Given the description of an element on the screen output the (x, y) to click on. 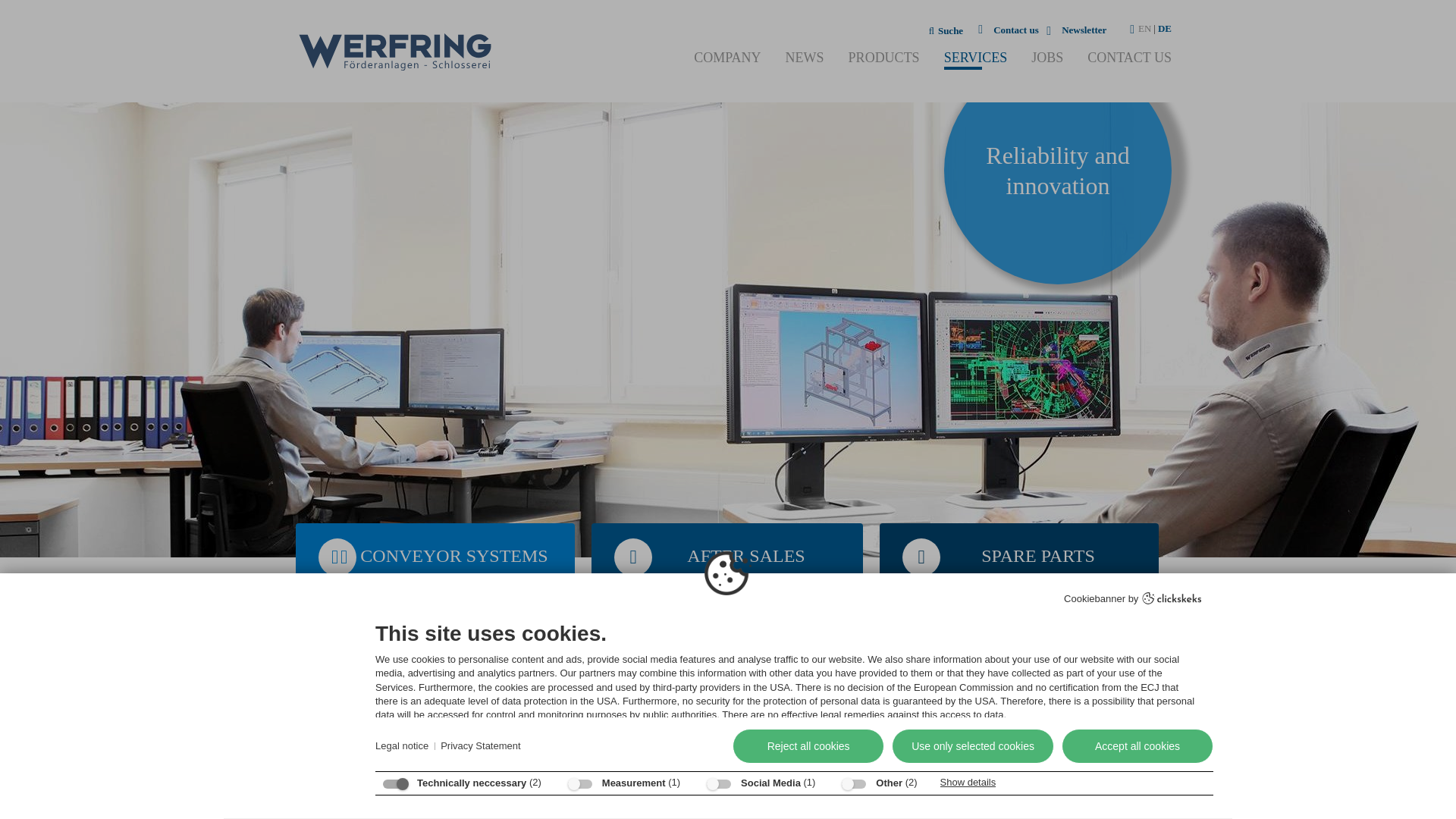
Clickskeks Logo (1171, 598)
Services (341, 634)
DE (1164, 29)
EN (1144, 29)
Home (306, 634)
Clickskeks (1171, 600)
